Given the description of an element on the screen output the (x, y) to click on. 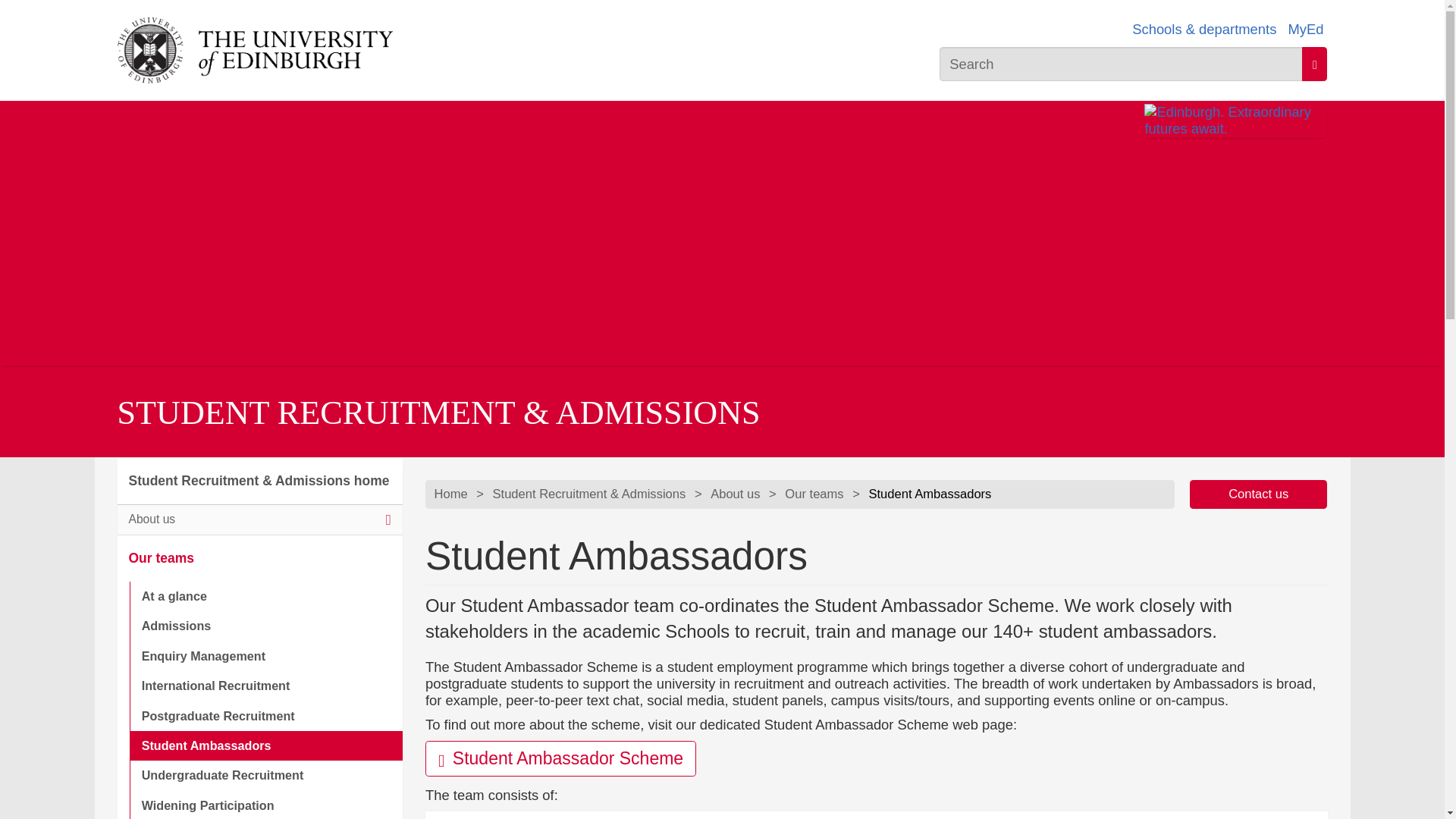
MyEd (1305, 28)
Student Ambassadors (266, 745)
About us (735, 494)
Enquiry Management (266, 655)
Student Ambassador Scheme (560, 758)
Our teams (813, 494)
Postgraduate Recruitment (266, 716)
International Recruitment (266, 685)
Contact us (1258, 493)
About us (259, 520)
Widening Participation (266, 805)
At a glance (266, 595)
Home (450, 494)
Our teams (259, 558)
Admissions (266, 625)
